Given the description of an element on the screen output the (x, y) to click on. 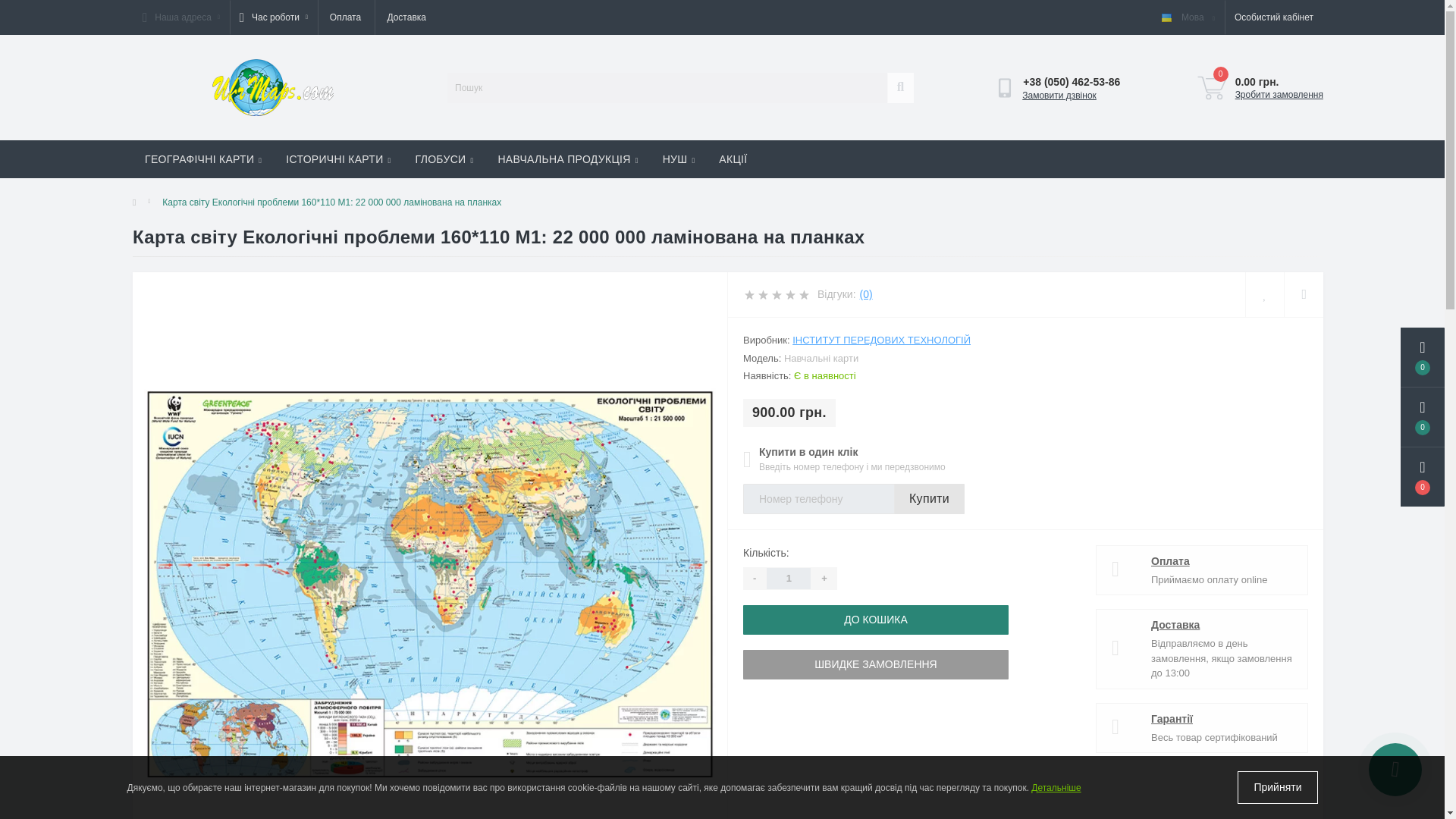
0 (1211, 87)
1 (787, 578)
